Given the description of an element on the screen output the (x, y) to click on. 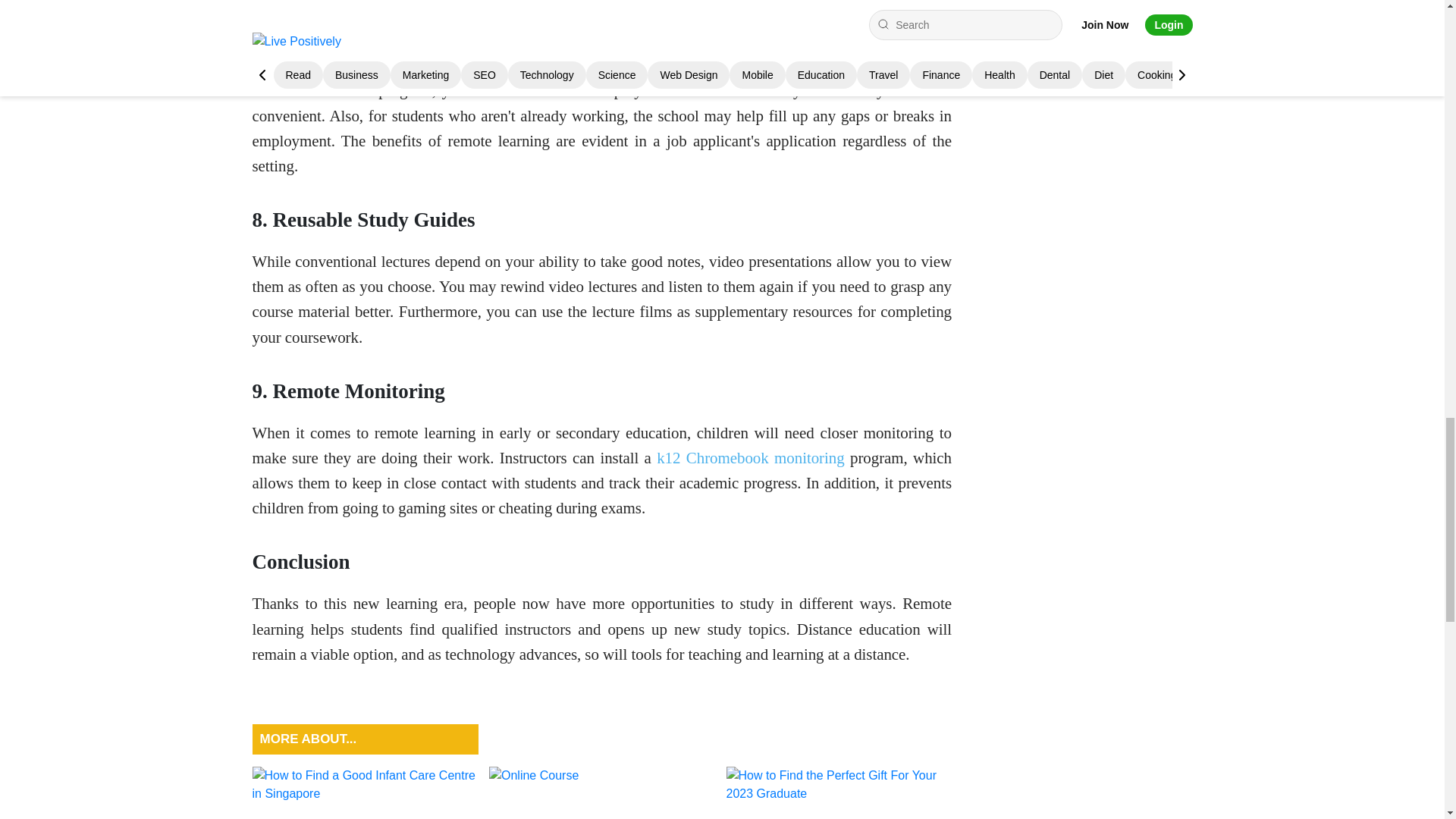
How to Find a Good Infant Care Centre in Singapore (364, 792)
How to Find the Perfect Gift For Your 2023 Graduate (839, 792)
How to Find the Perfect Gift For Your 2023 Graduate (839, 792)
How to Publish Quality Blogs for Online Courses  (601, 792)
How to Find a Good Infant Care Centre in Singapore (364, 792)
Online Course (601, 792)
